Given the description of an element on the screen output the (x, y) to click on. 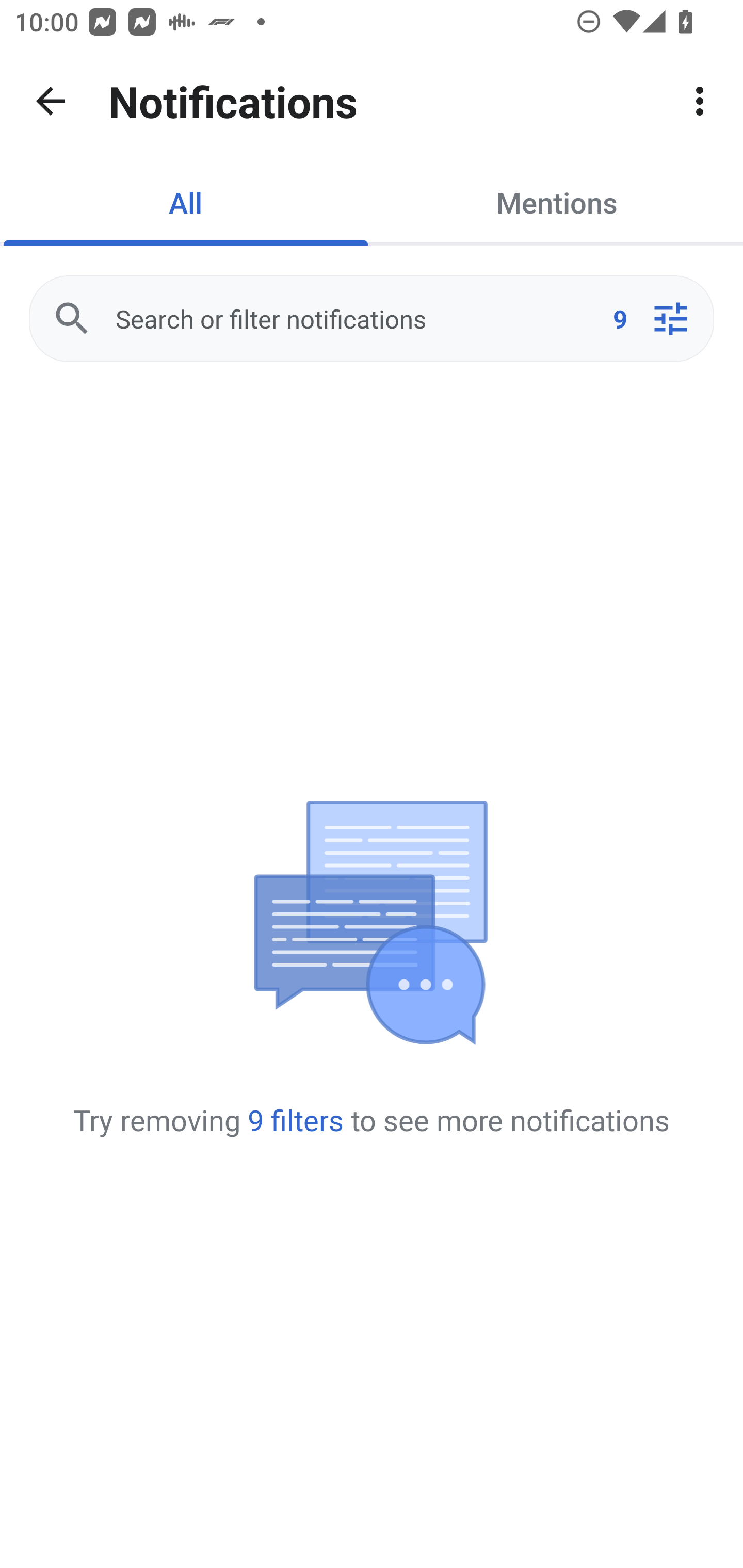
Navigate up (50, 101)
More (699, 101)
Mentions (557, 202)
Notification filter (670, 318)
